Given the description of an element on the screen output the (x, y) to click on. 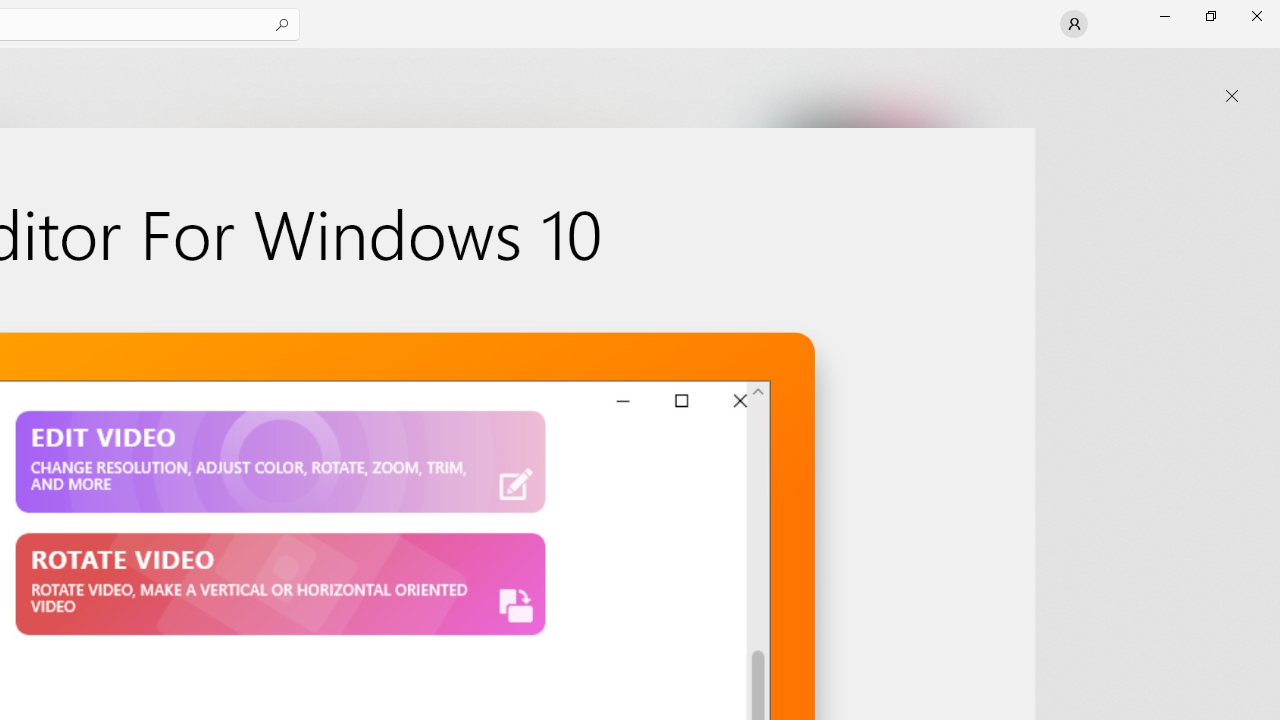
close popup window (1232, 95)
See all (924, 72)
Close Microsoft Store (1256, 15)
Animotica is an easy-to-use video editor for Windows 10 (406, 279)
Trim, Split, Join Video and Photo in Animotica (832, 279)
Minimize Microsoft Store (1164, 15)
User profile (1073, 24)
Restore Microsoft Store (1210, 15)
